Given the description of an element on the screen output the (x, y) to click on. 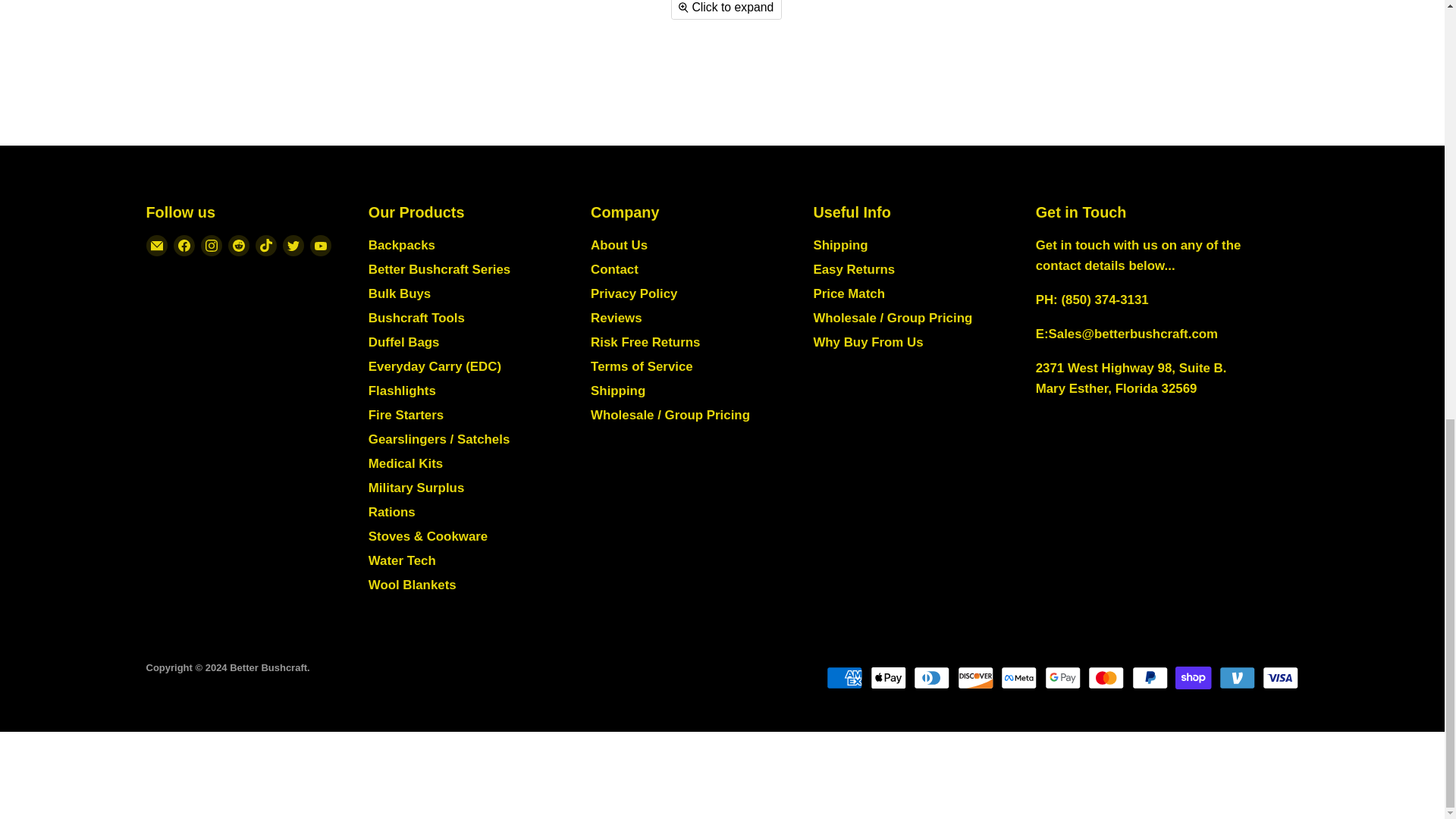
TikTok (265, 245)
YouTube (319, 245)
Instagram (210, 245)
Reddit (237, 245)
E-mail (156, 245)
Twitter (292, 245)
Facebook (183, 245)
